Given the description of an element on the screen output the (x, y) to click on. 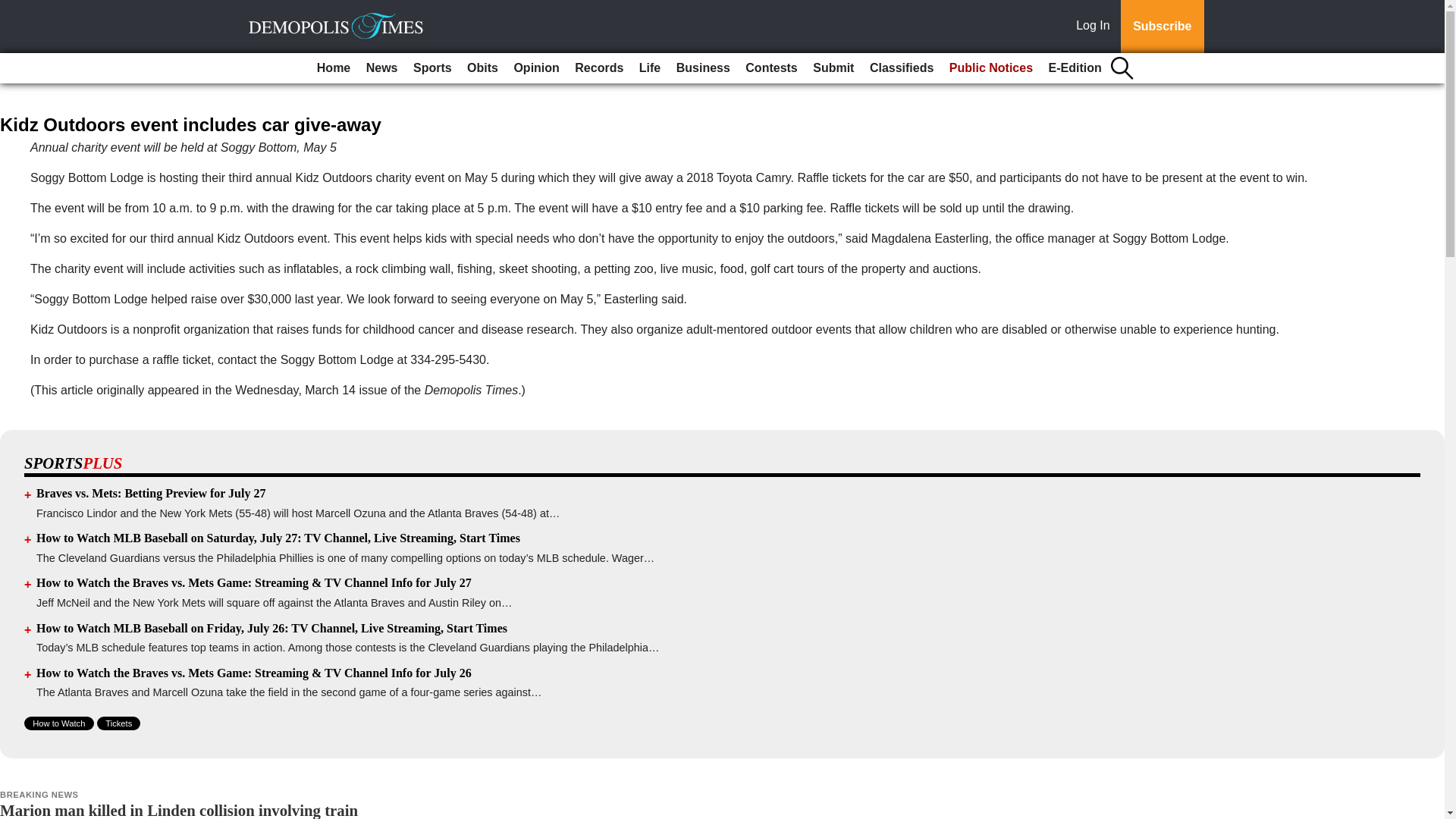
Log In (1095, 26)
Marion man killed in Linden collision involving train (179, 810)
Obits (482, 68)
E-Edition (1075, 68)
News (381, 68)
Braves vs. Mets: Betting Preview for July 27 (150, 492)
Home (333, 68)
Public Notices (991, 68)
Life (649, 68)
Business (702, 68)
Opinion (535, 68)
Go (13, 9)
Tickets (118, 723)
